Given the description of an element on the screen output the (x, y) to click on. 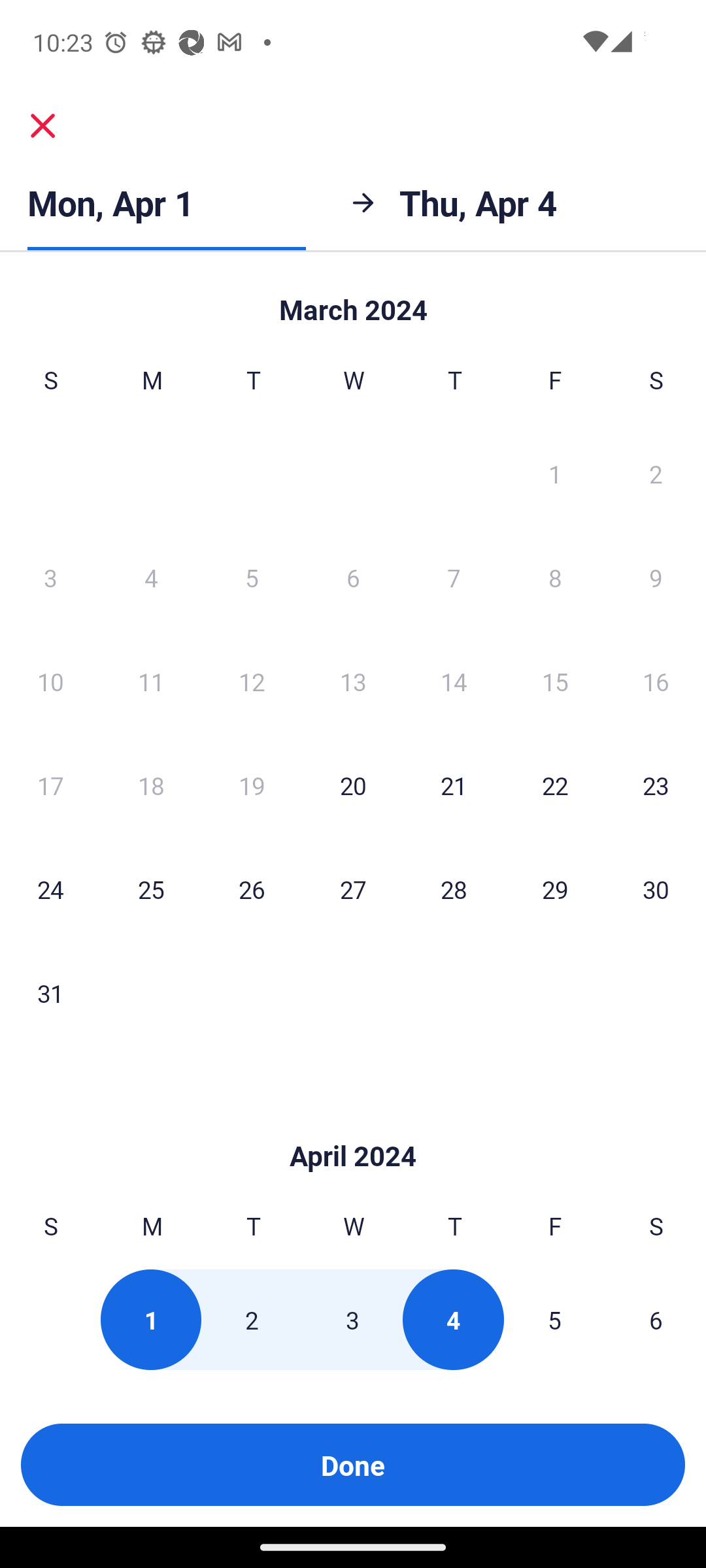
close. (43, 125)
Skip to Done (353, 300)
1 Friday, March 1, 2024 (554, 473)
2 Saturday, March 2, 2024 (655, 473)
3 Sunday, March 3, 2024 (50, 576)
4 Monday, March 4, 2024 (150, 576)
5 Tuesday, March 5, 2024 (251, 576)
6 Wednesday, March 6, 2024 (352, 576)
7 Thursday, March 7, 2024 (453, 576)
8 Friday, March 8, 2024 (554, 576)
9 Saturday, March 9, 2024 (655, 576)
10 Sunday, March 10, 2024 (50, 681)
11 Monday, March 11, 2024 (150, 681)
12 Tuesday, March 12, 2024 (251, 681)
13 Wednesday, March 13, 2024 (352, 681)
14 Thursday, March 14, 2024 (453, 681)
15 Friday, March 15, 2024 (554, 681)
16 Saturday, March 16, 2024 (655, 681)
17 Sunday, March 17, 2024 (50, 785)
18 Monday, March 18, 2024 (150, 785)
19 Tuesday, March 19, 2024 (251, 785)
20 Wednesday, March 20, 2024 (352, 785)
21 Thursday, March 21, 2024 (453, 785)
22 Friday, March 22, 2024 (554, 785)
23 Saturday, March 23, 2024 (655, 785)
24 Sunday, March 24, 2024 (50, 888)
25 Monday, March 25, 2024 (150, 888)
26 Tuesday, March 26, 2024 (251, 888)
27 Wednesday, March 27, 2024 (352, 888)
28 Thursday, March 28, 2024 (453, 888)
29 Friday, March 29, 2024 (554, 888)
30 Saturday, March 30, 2024 (655, 888)
31 Sunday, March 31, 2024 (50, 992)
Skip to Done (353, 1126)
5 Friday, April 5, 2024 (554, 1320)
6 Saturday, April 6, 2024 (655, 1320)
Done (352, 1464)
